Given the description of an element on the screen output the (x, y) to click on. 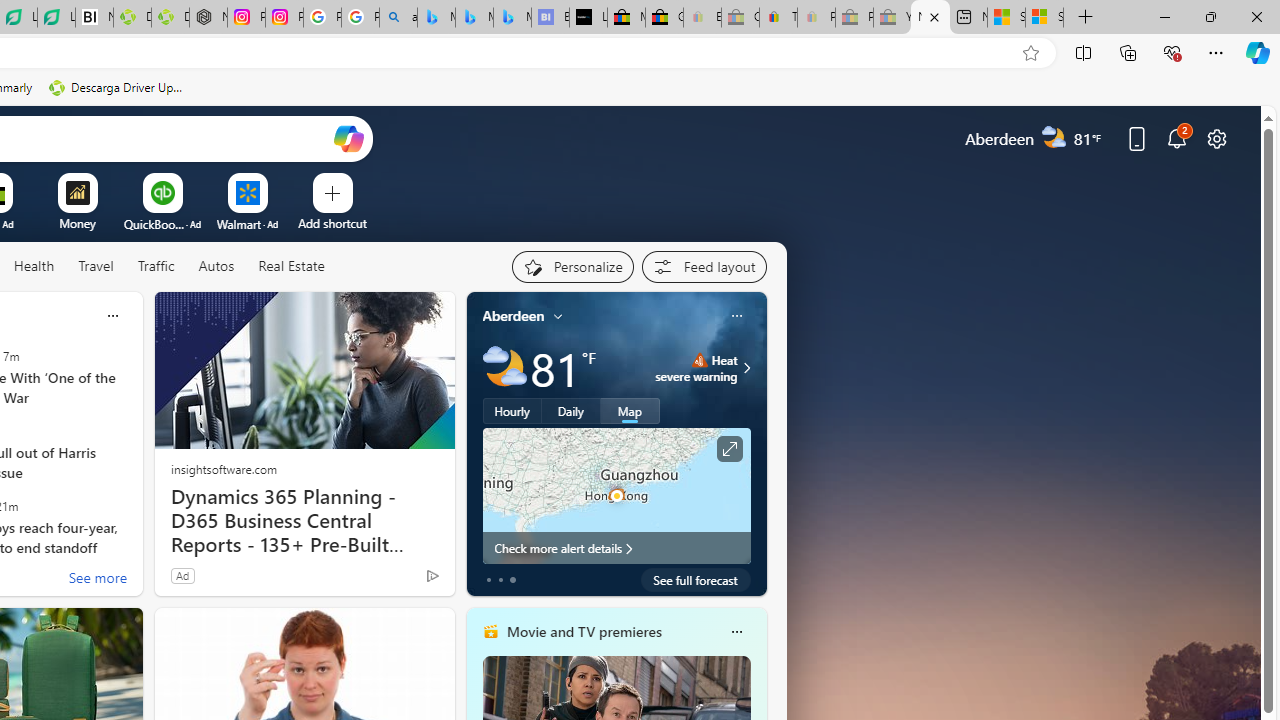
Microsoft Bing Travel - Flights from Hong Kong to Bangkok (436, 17)
Nordace - Nordace Edin Collection (207, 17)
Heat - Severe Heat severe warning (696, 367)
Add a site (332, 223)
Page settings (1216, 138)
